Given the description of an element on the screen output the (x, y) to click on. 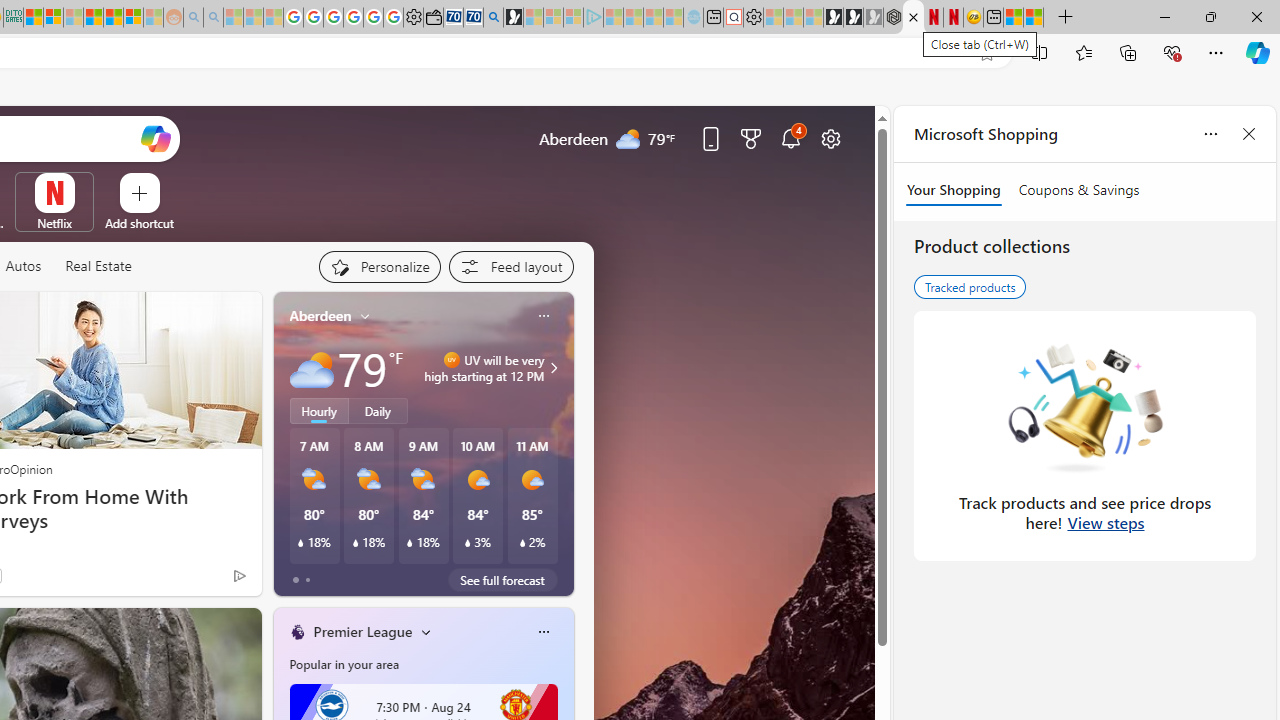
Bing Real Estate - Home sales and rental listings (493, 17)
previous (283, 443)
Netflix (54, 223)
Daily (378, 411)
Personalize your feed" (379, 266)
